Given the description of an element on the screen output the (x, y) to click on. 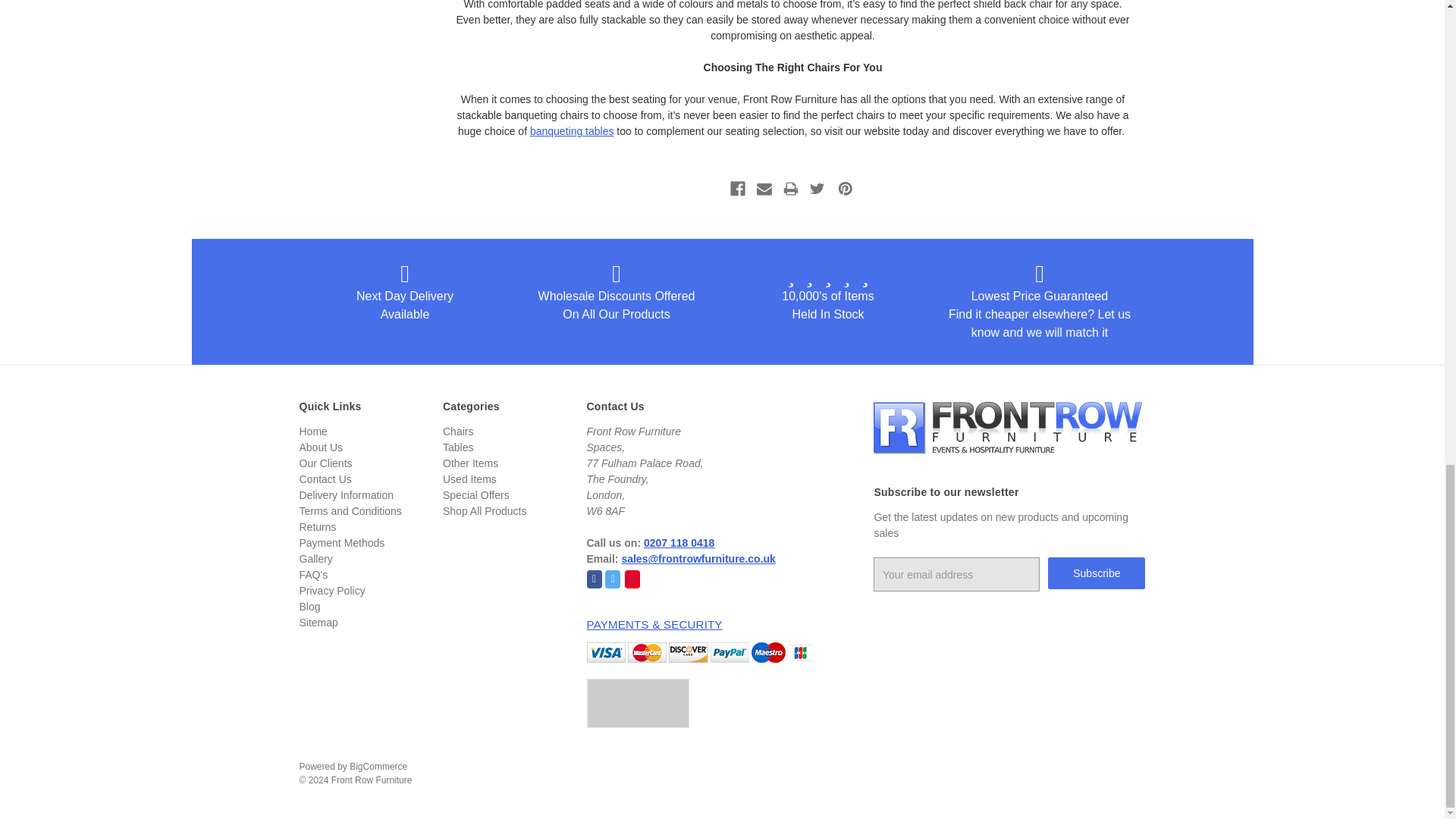
Subscribe (1096, 572)
